Given the description of an element on the screen output the (x, y) to click on. 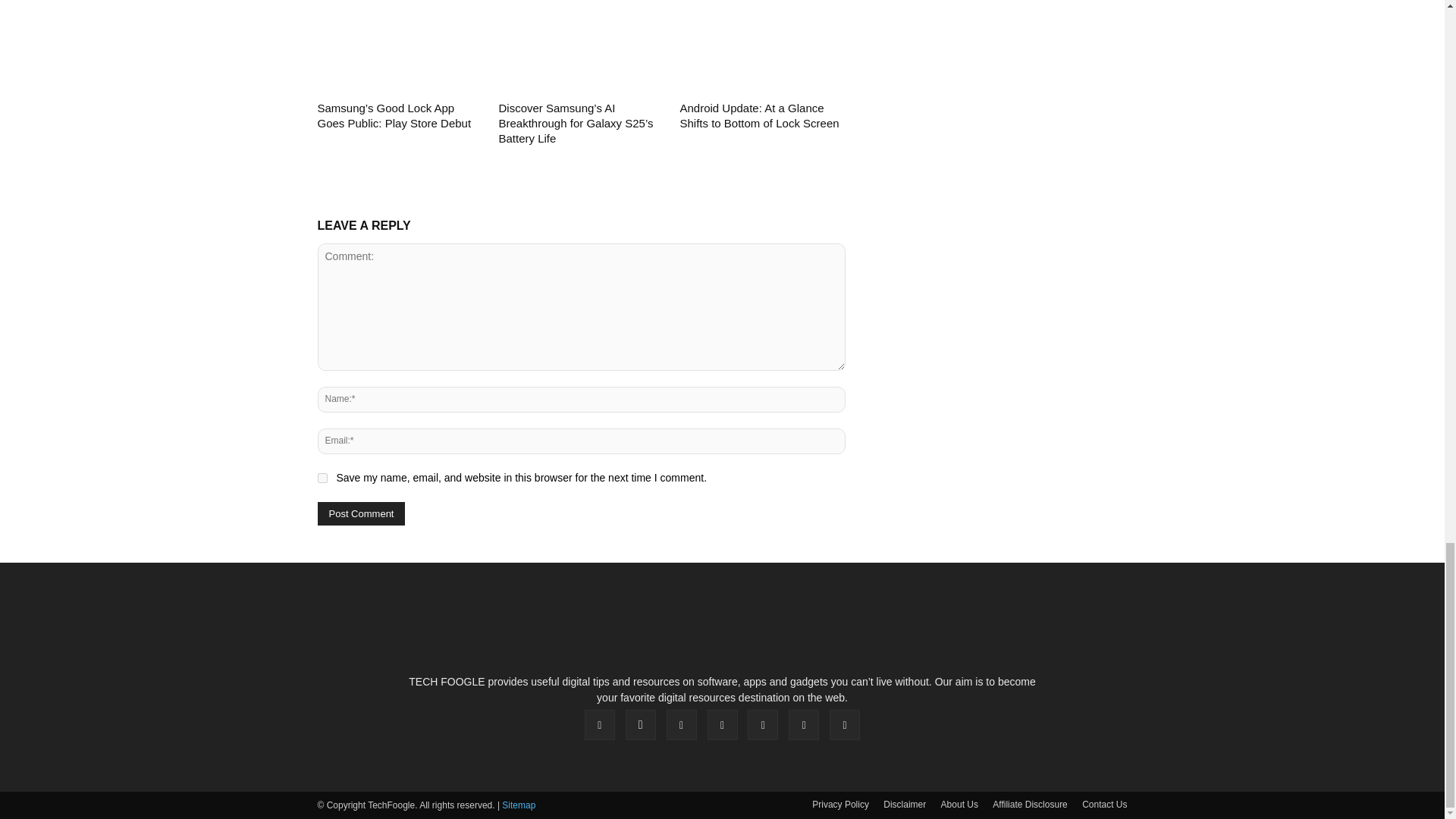
yes (321, 478)
Post Comment (360, 513)
